Given the description of an element on the screen output the (x, y) to click on. 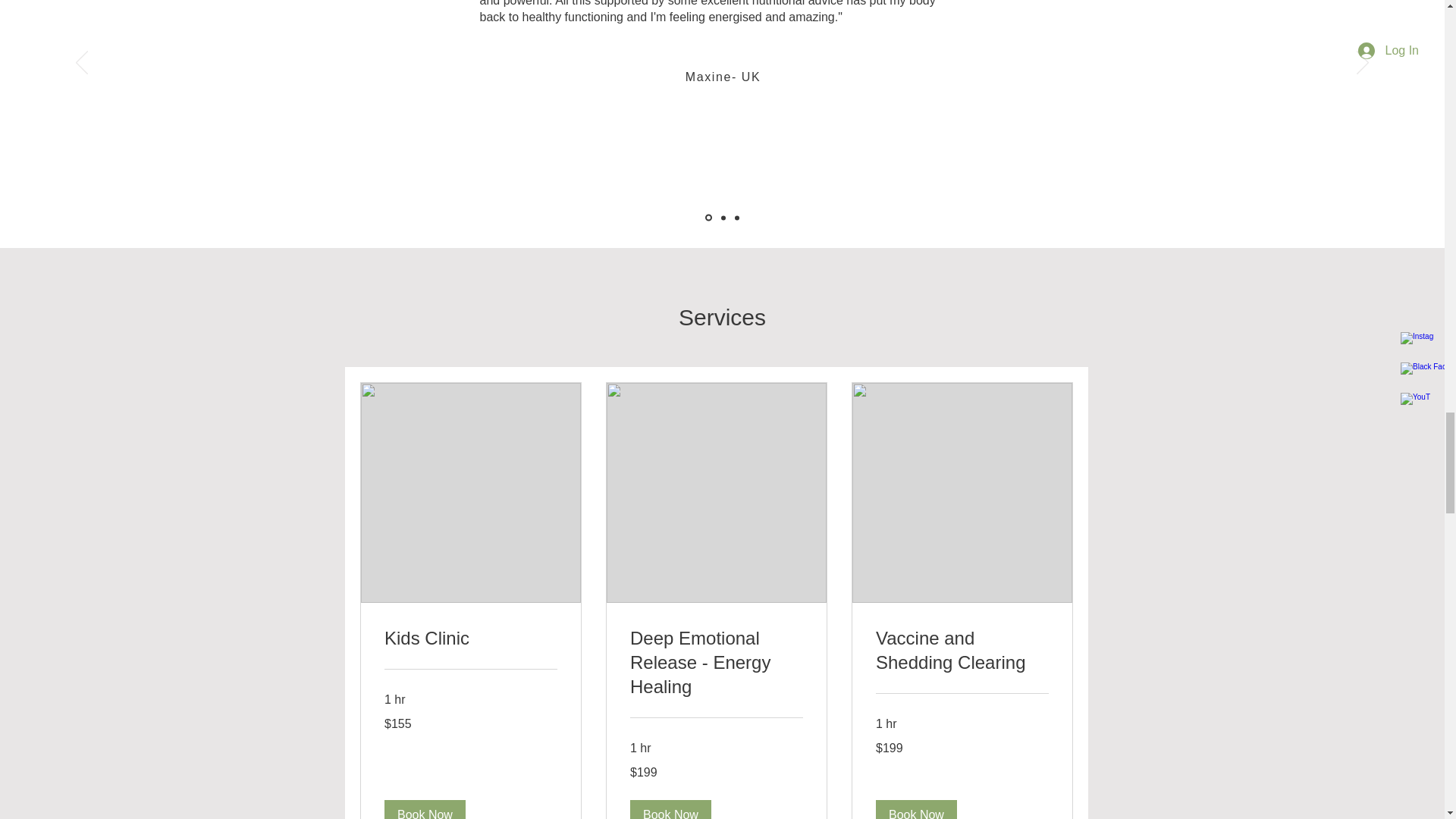
Vaccine and Shedding Clearing (961, 650)
Kids Clinic (470, 638)
Book Now (915, 809)
Book Now (424, 809)
Book Now (669, 809)
Deep Emotional Release - Energy Healing (715, 662)
